Given the description of an element on the screen output the (x, y) to click on. 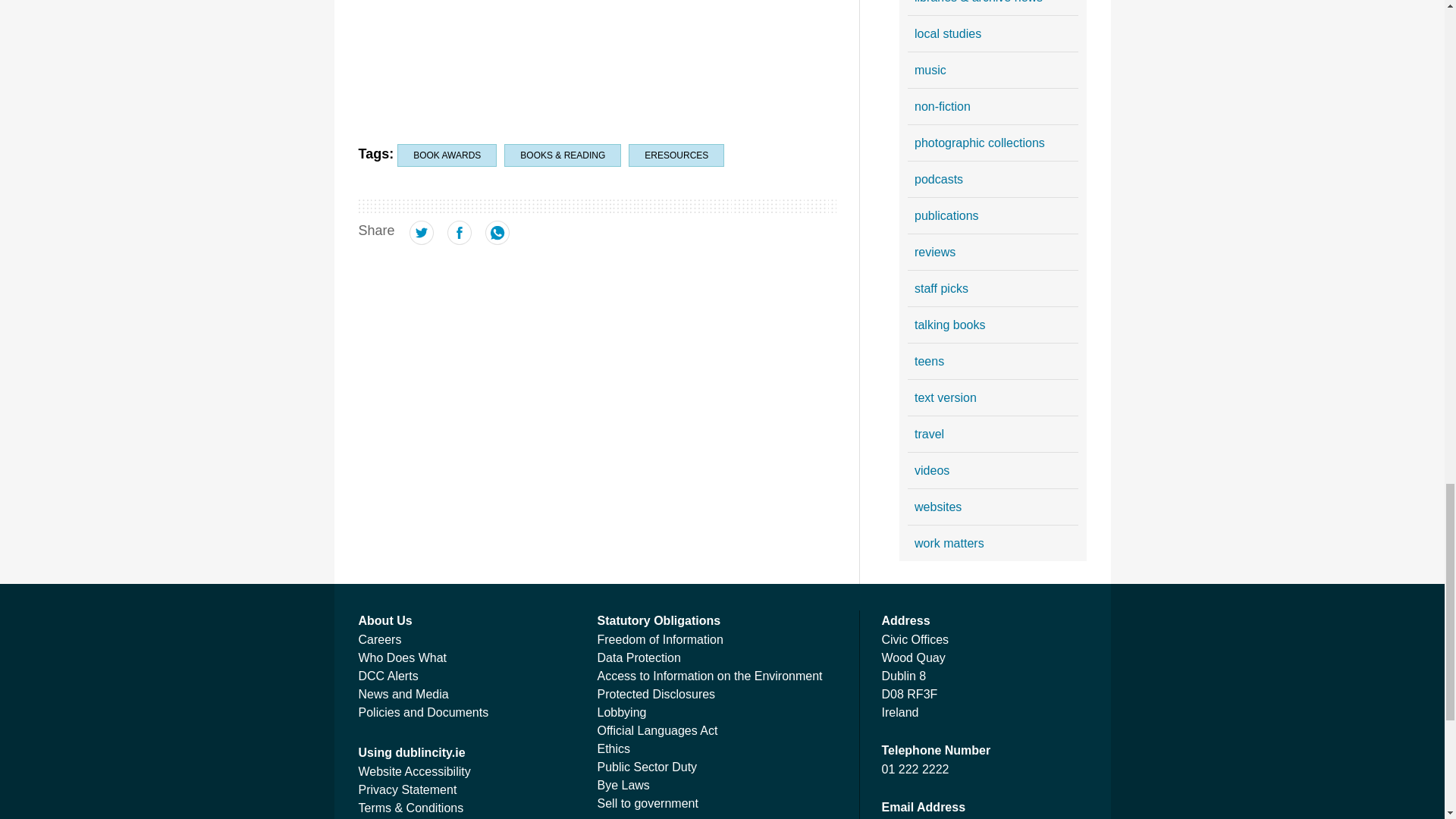
Share via Facebook (458, 240)
BOOK AWARDS (446, 155)
Share via Twitter (421, 240)
ERESOURCES (675, 155)
Share via WhatsApp (496, 240)
